Given the description of an element on the screen output the (x, y) to click on. 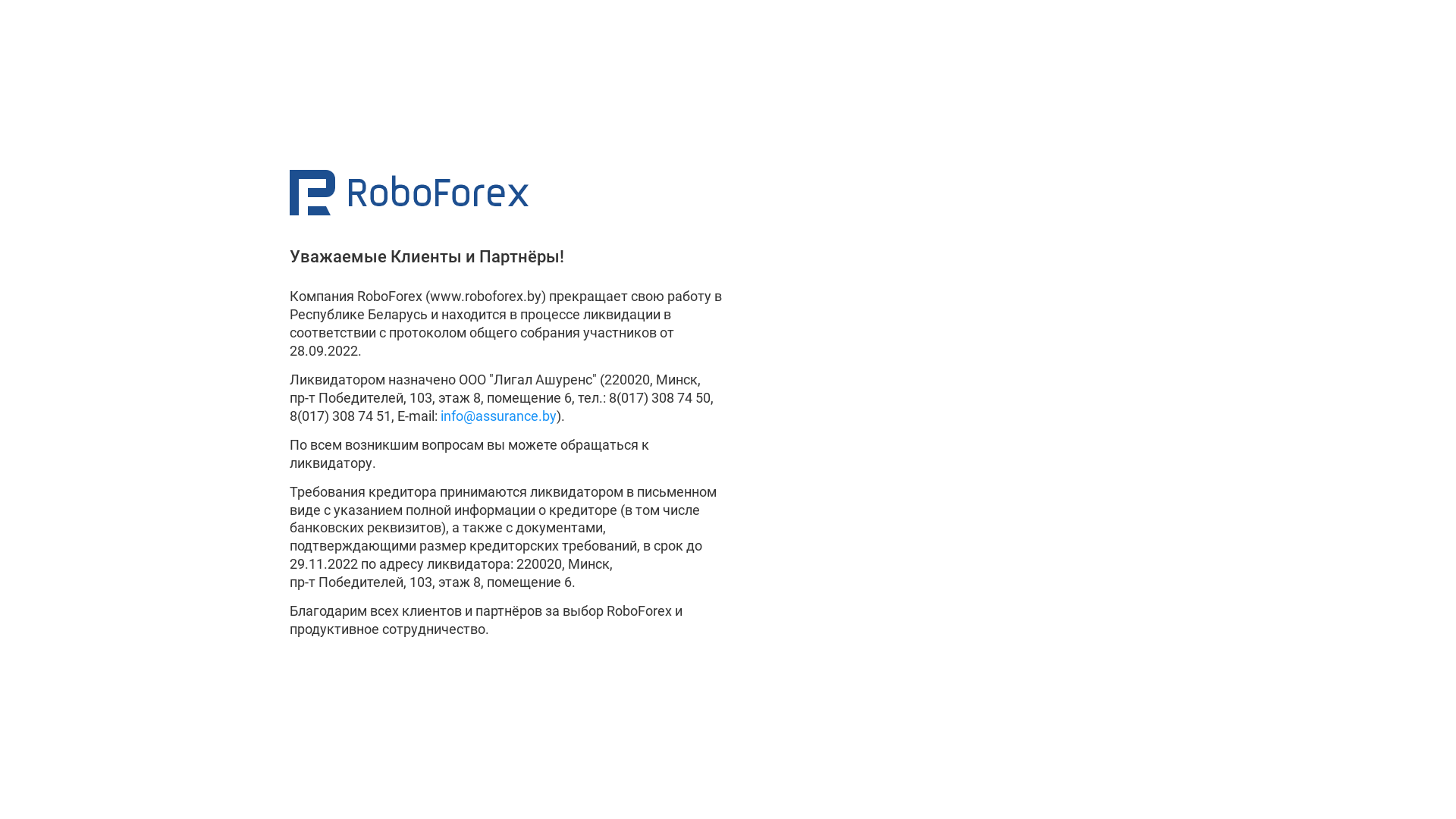
info@assurance.by Element type: text (498, 415)
